Given the description of an element on the screen output the (x, y) to click on. 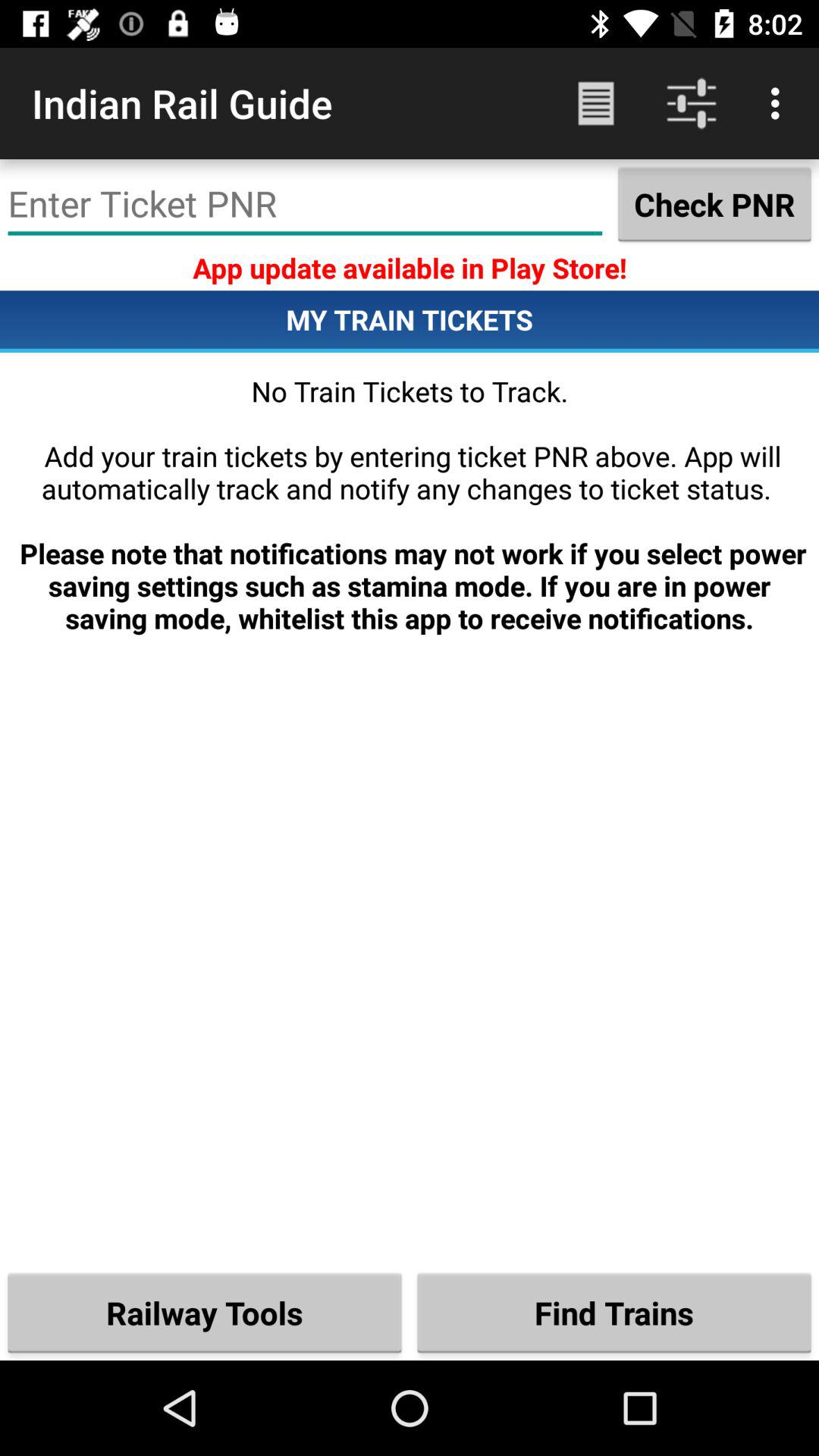
scroll until the check pnr icon (714, 204)
